Given the description of an element on the screen output the (x, y) to click on. 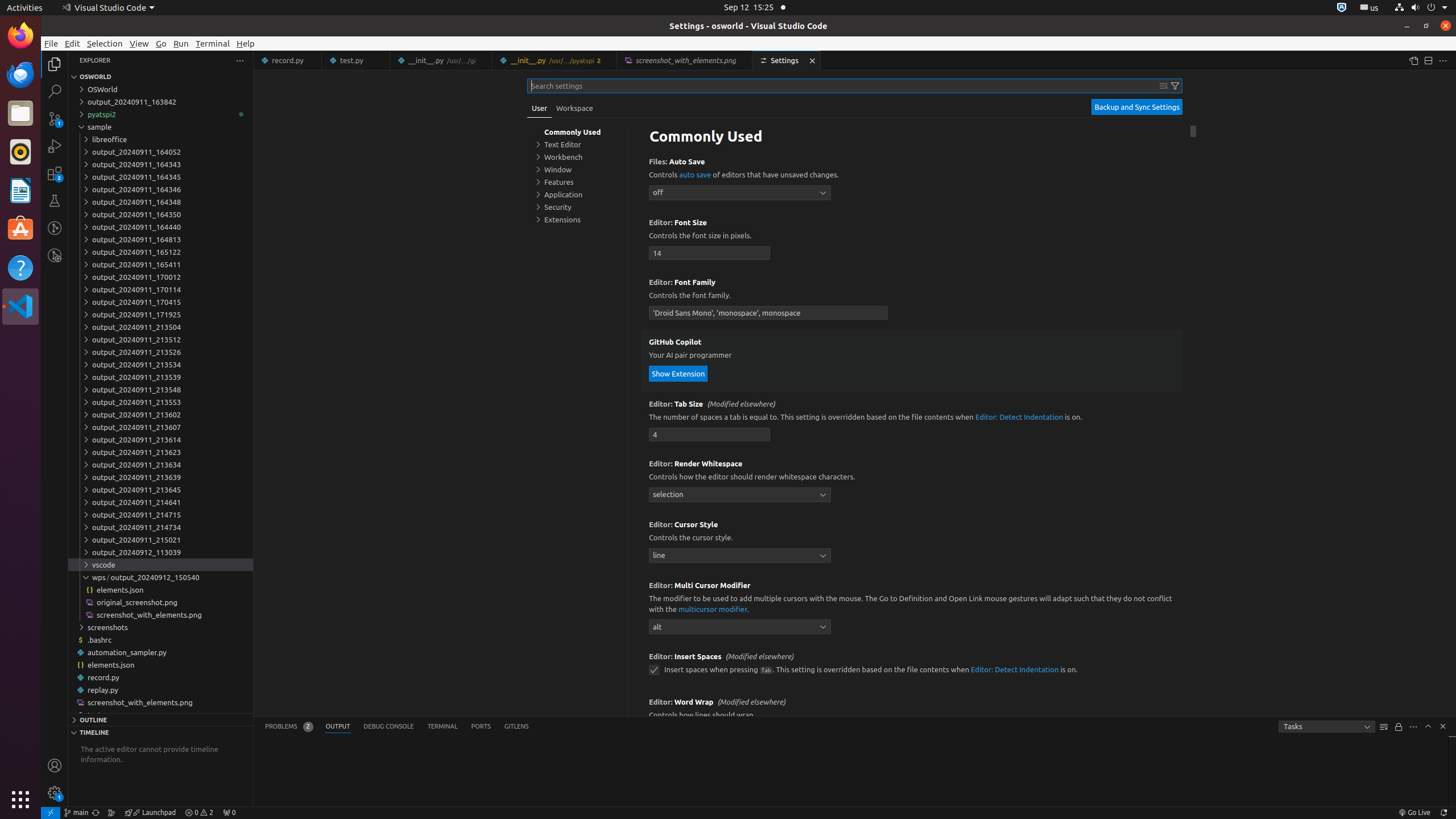
output_20240911_213645 Element type: tree-item (160, 489)
Timeline Section Element type: push-button (160, 731)
Close (Ctrl+W) Element type: push-button (812, 60)
Explorer Section: osworld Element type: push-button (160, 76)
